Given the description of an element on the screen output the (x, y) to click on. 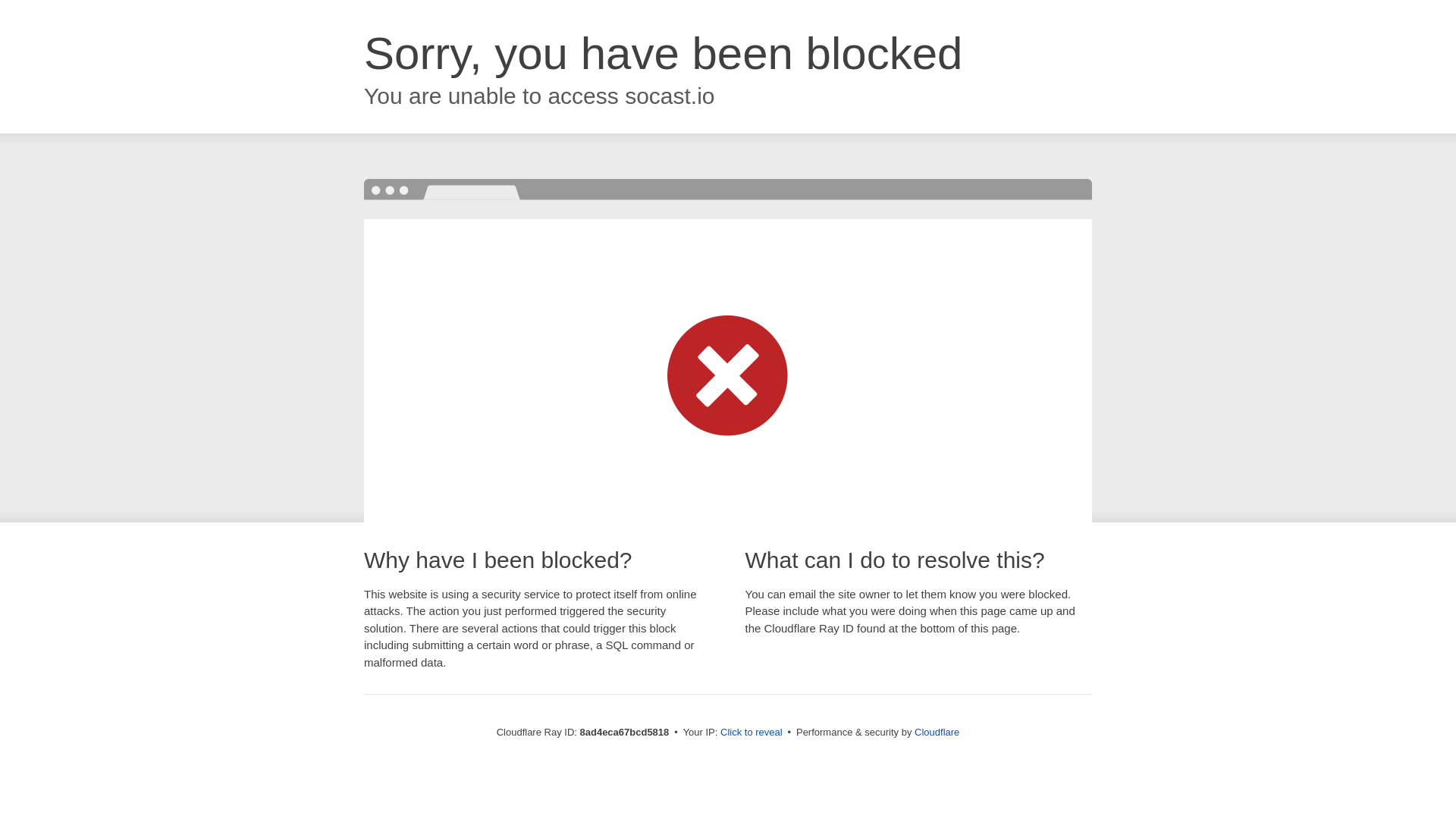
Cloudflare (936, 731)
Click to reveal (751, 732)
